Given the description of an element on the screen output the (x, y) to click on. 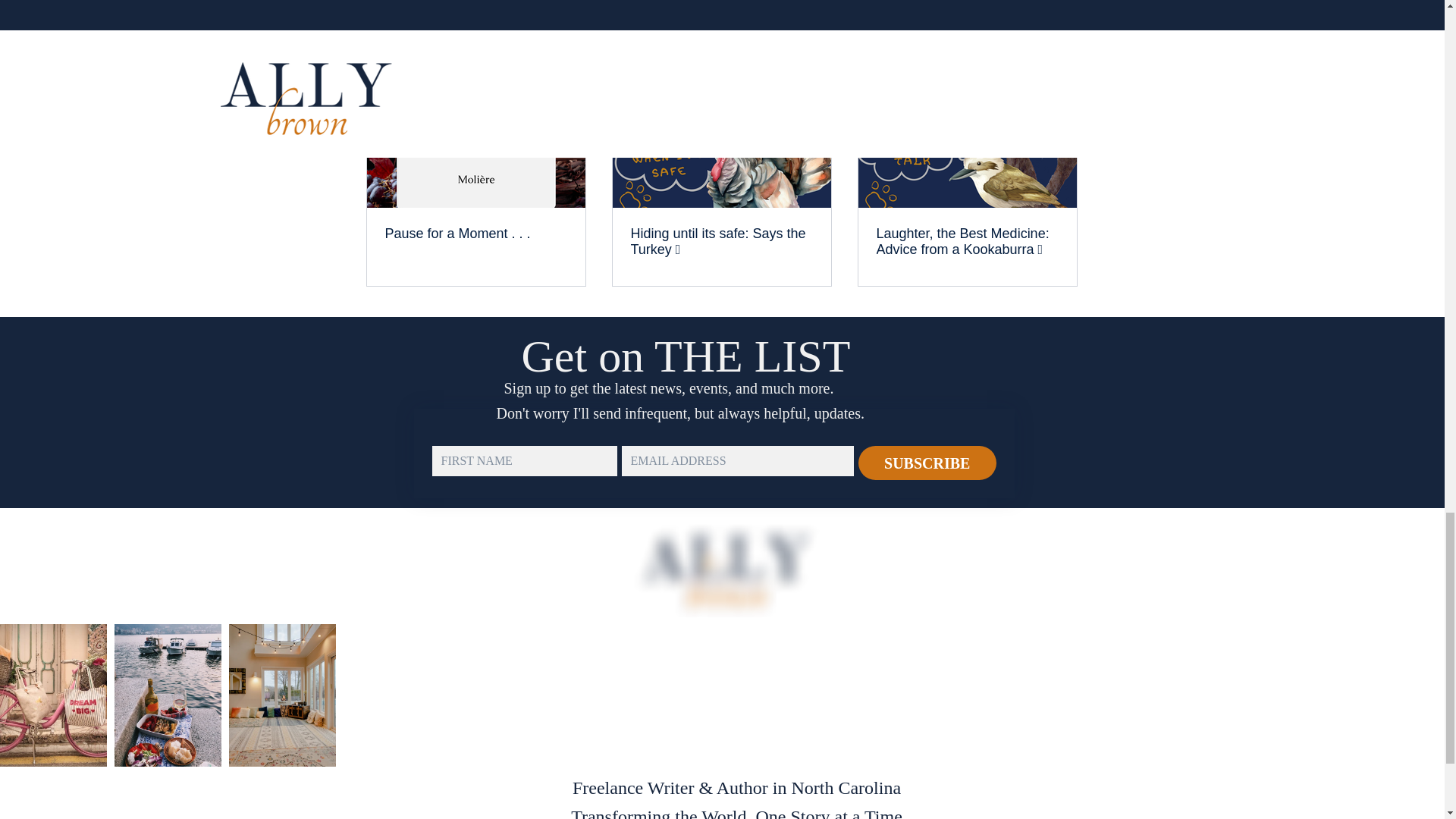
Pause for a Moment . . . (476, 233)
See All (1061, 57)
SUBSCRIBE (927, 462)
